Given the description of an element on the screen output the (x, y) to click on. 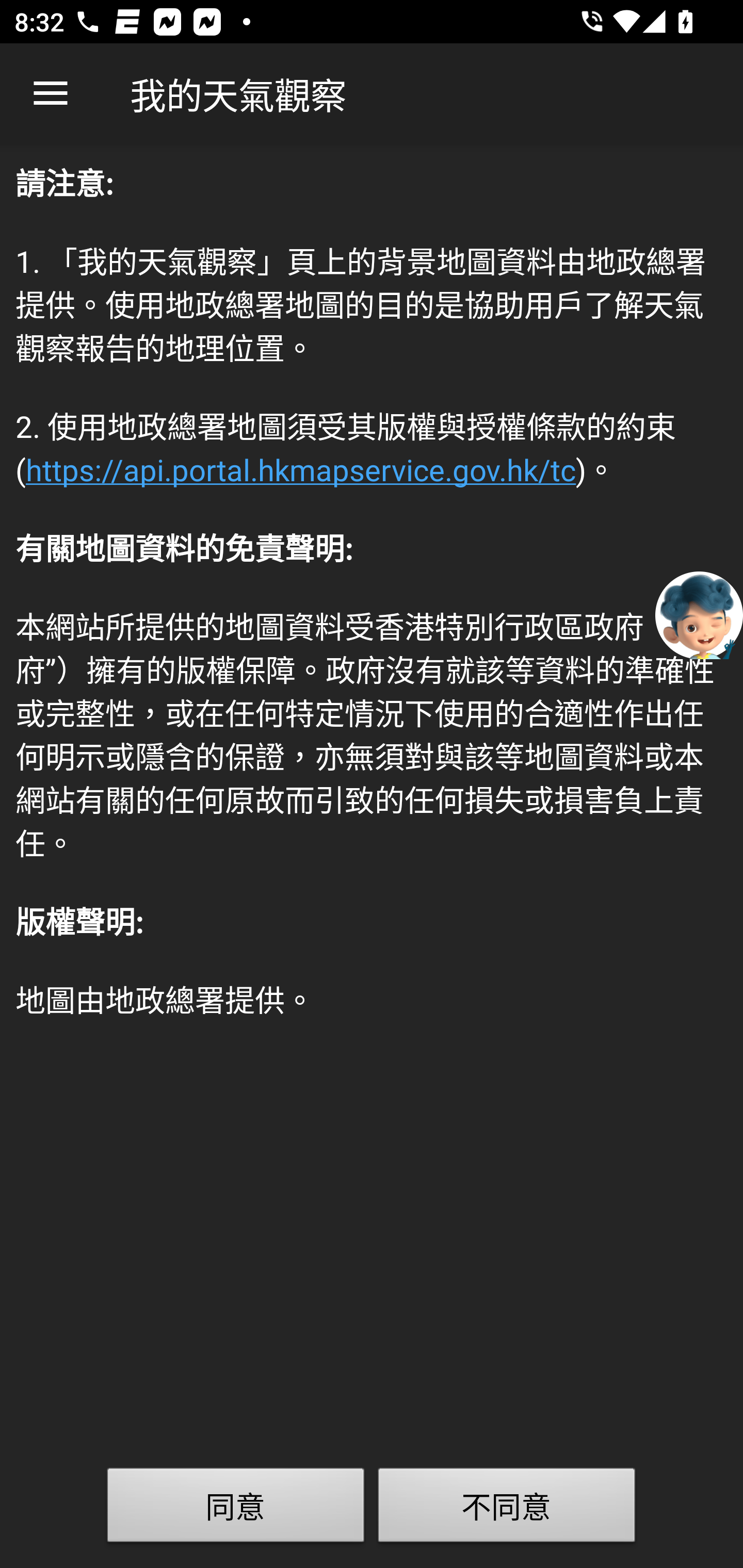
向上瀏覽 (50, 93)
聊天機械人 (699, 614)
同意 (235, 1509)
不同意 (506, 1509)
